Given the description of an element on the screen output the (x, y) to click on. 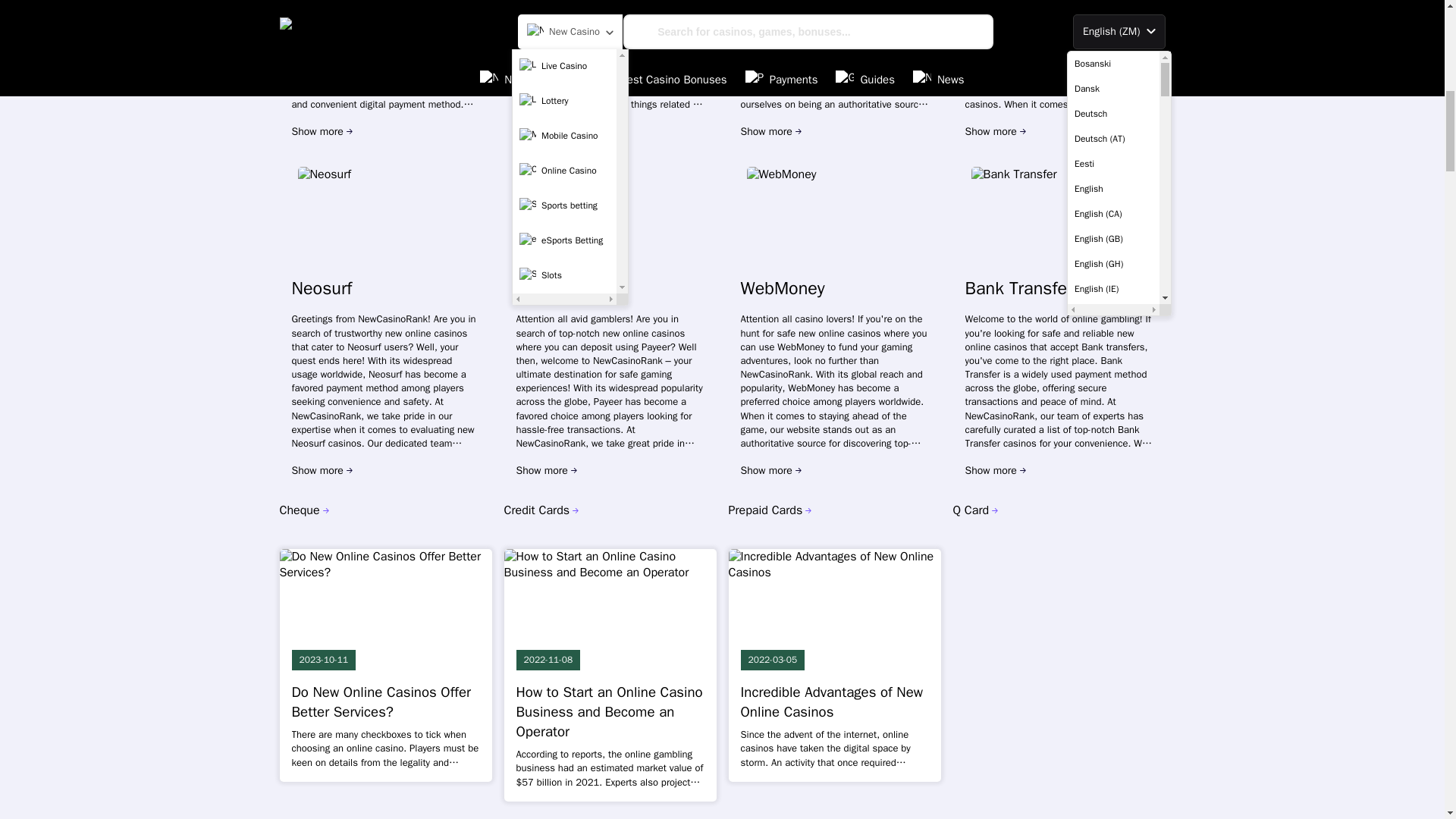
Hrvatski (1113, 4)
